Given the description of an element on the screen output the (x, y) to click on. 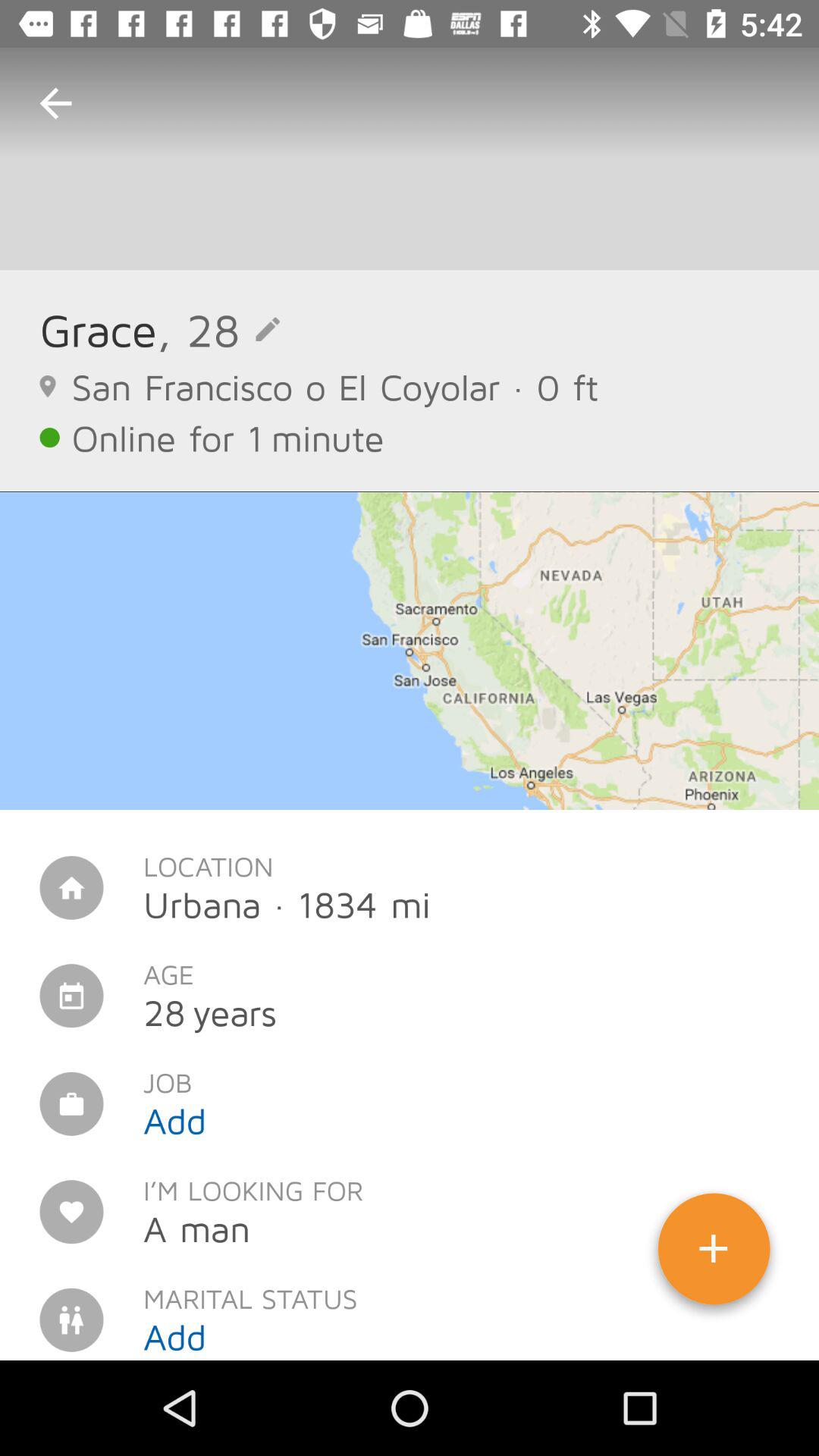
choose item to the right of the grace icon (217, 329)
